Given the description of an element on the screen output the (x, y) to click on. 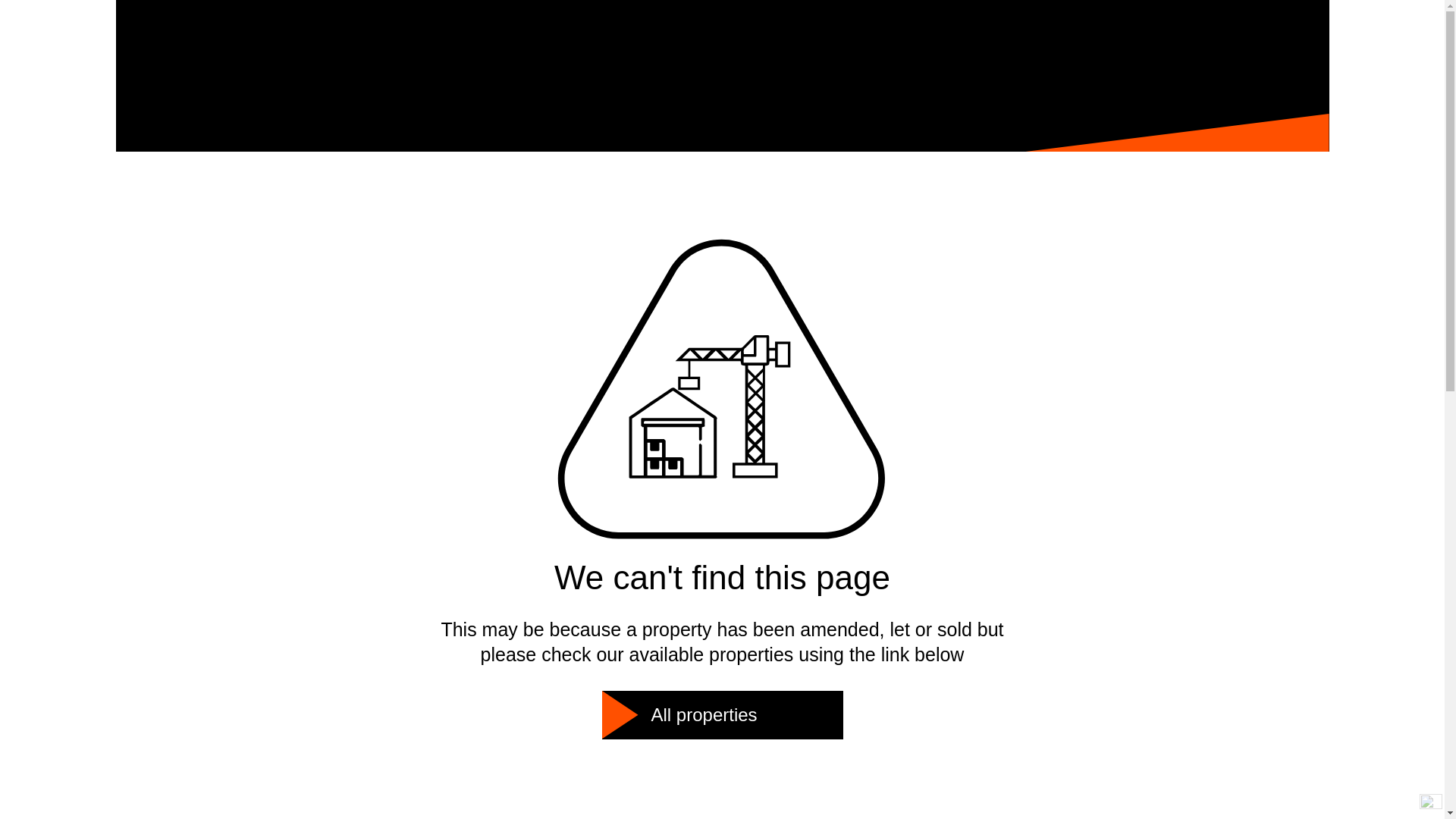
All properties (722, 715)
